Given the description of an element on the screen output the (x, y) to click on. 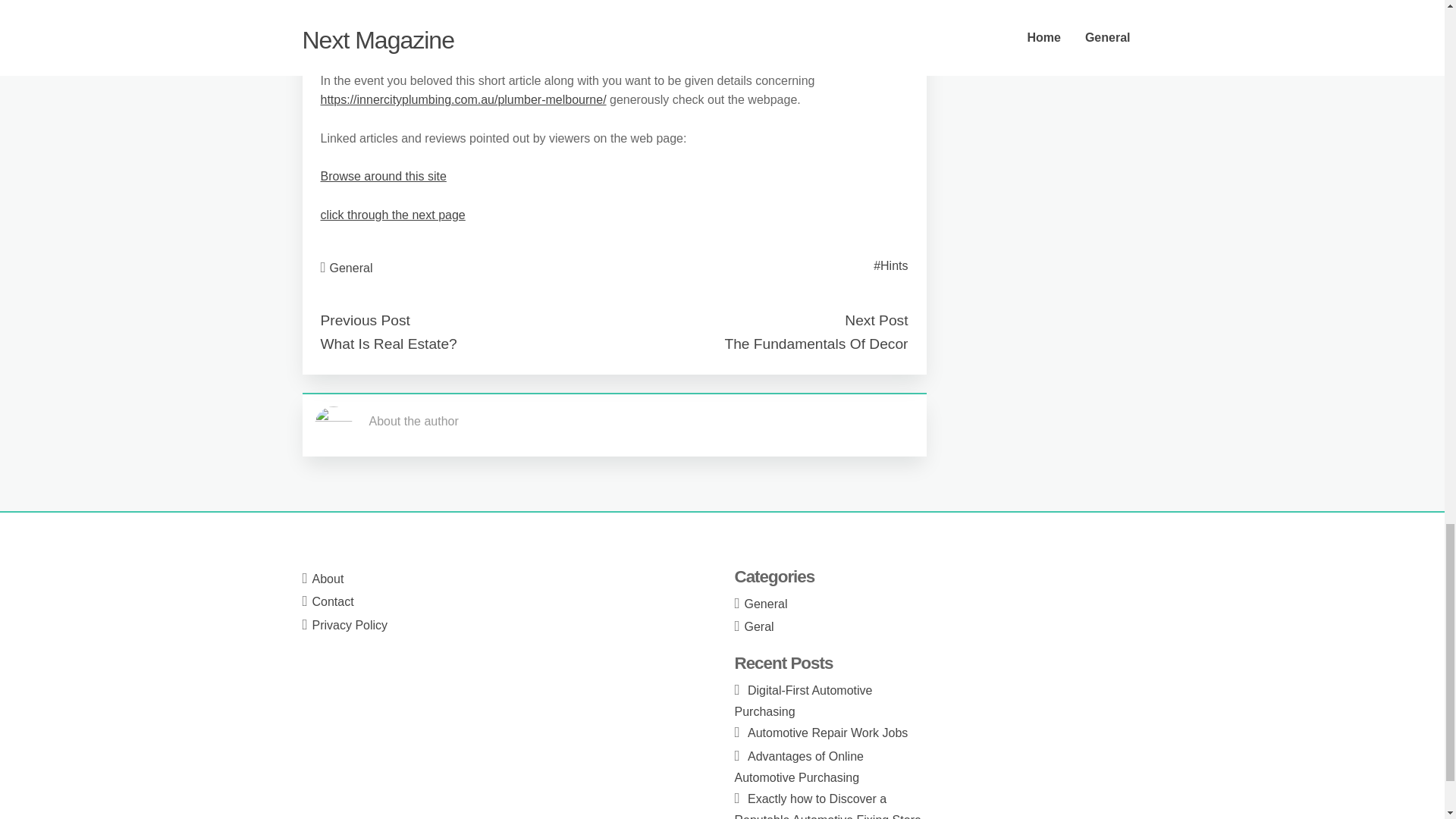
Privacy Policy (350, 625)
Next Post (875, 320)
General (351, 267)
Previous Post (364, 320)
click through the next page (392, 214)
Browse around this site (382, 175)
What Is Real Estate? (388, 343)
About (328, 578)
Contact (333, 601)
The Fundamentals Of Decor (815, 343)
